Given the description of an element on the screen output the (x, y) to click on. 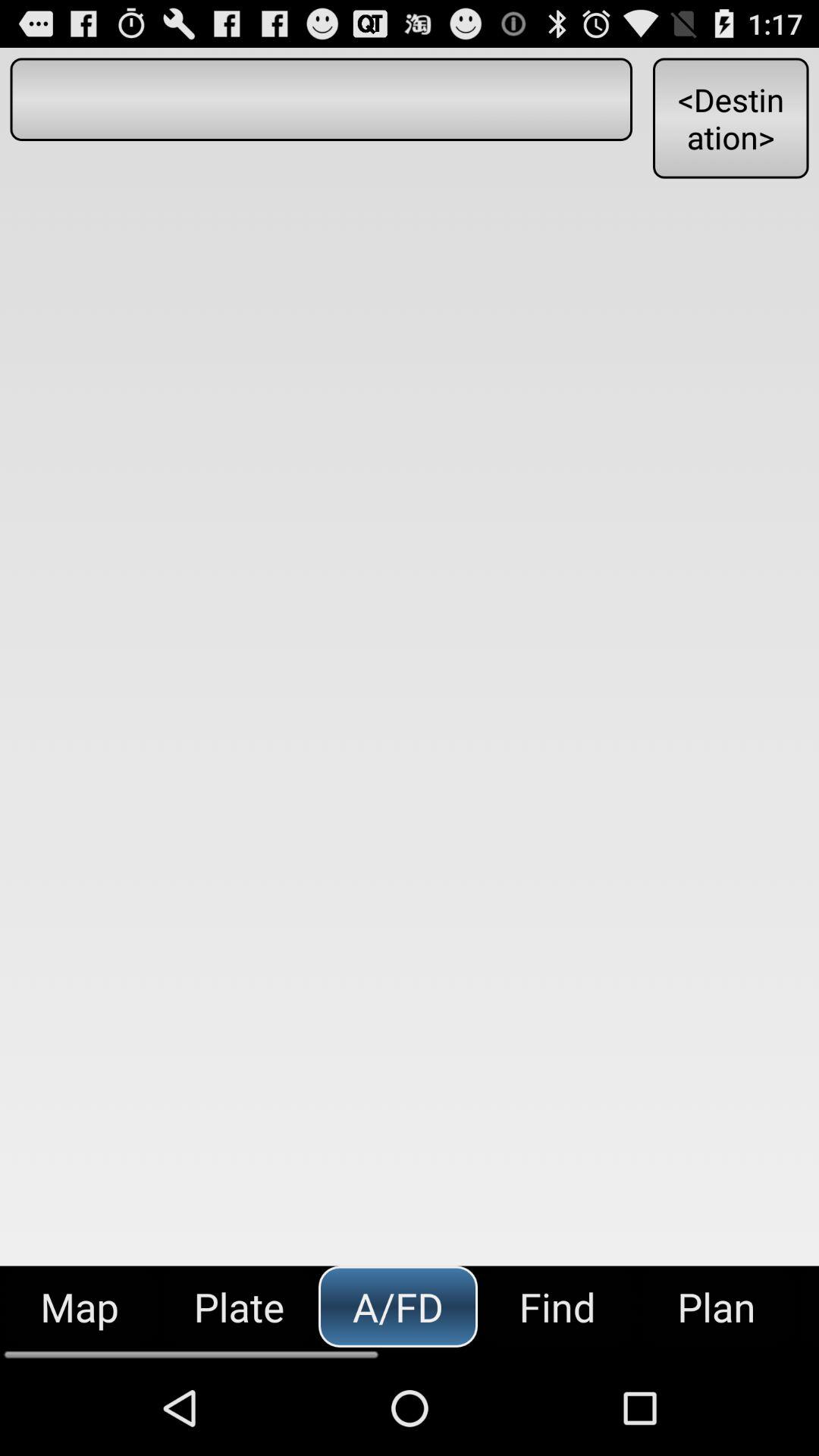
select the button at the top right corner (730, 118)
